Given the description of an element on the screen output the (x, y) to click on. 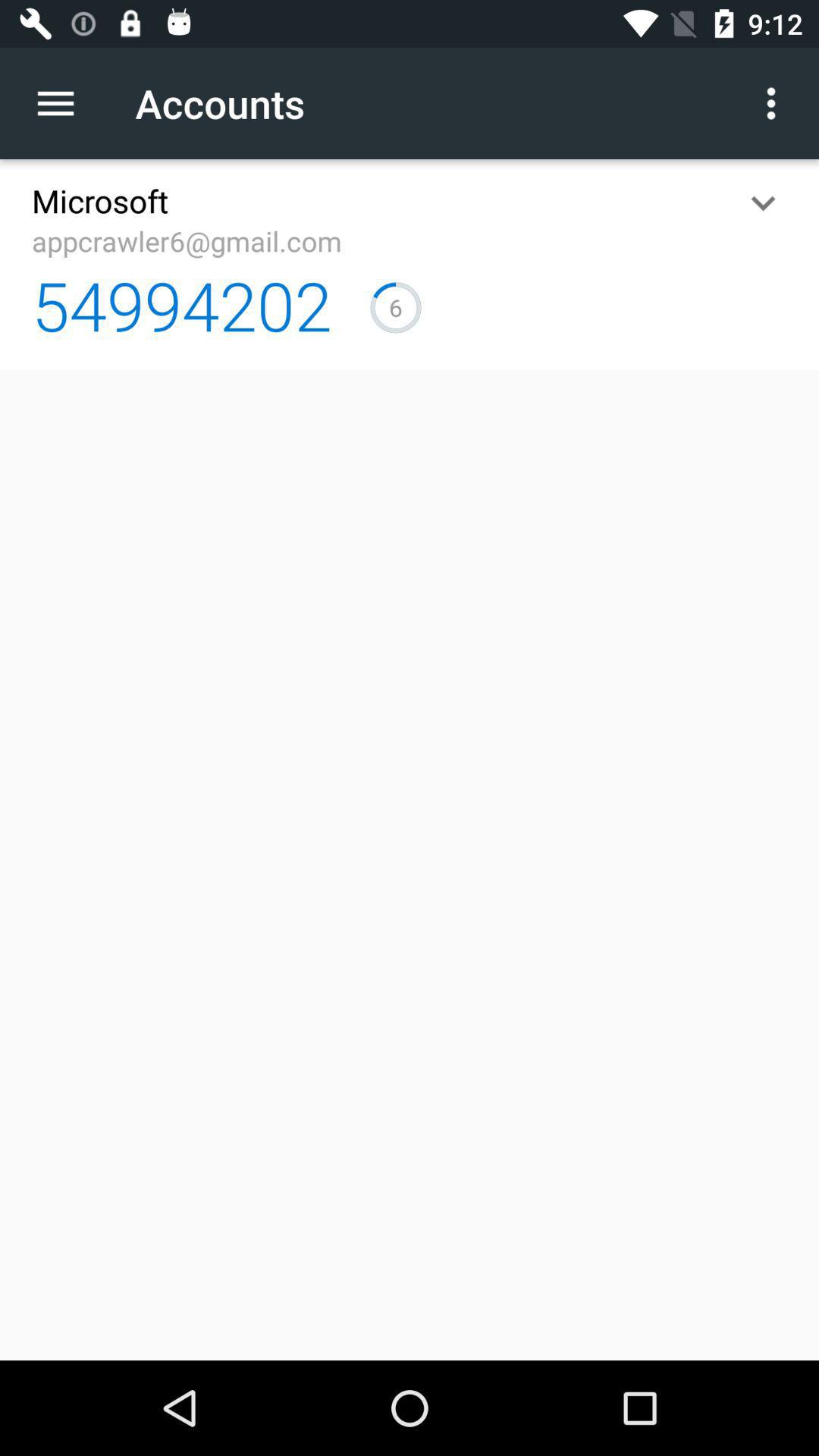
turn off the 54994202 icon (181, 304)
